Given the description of an element on the screen output the (x, y) to click on. 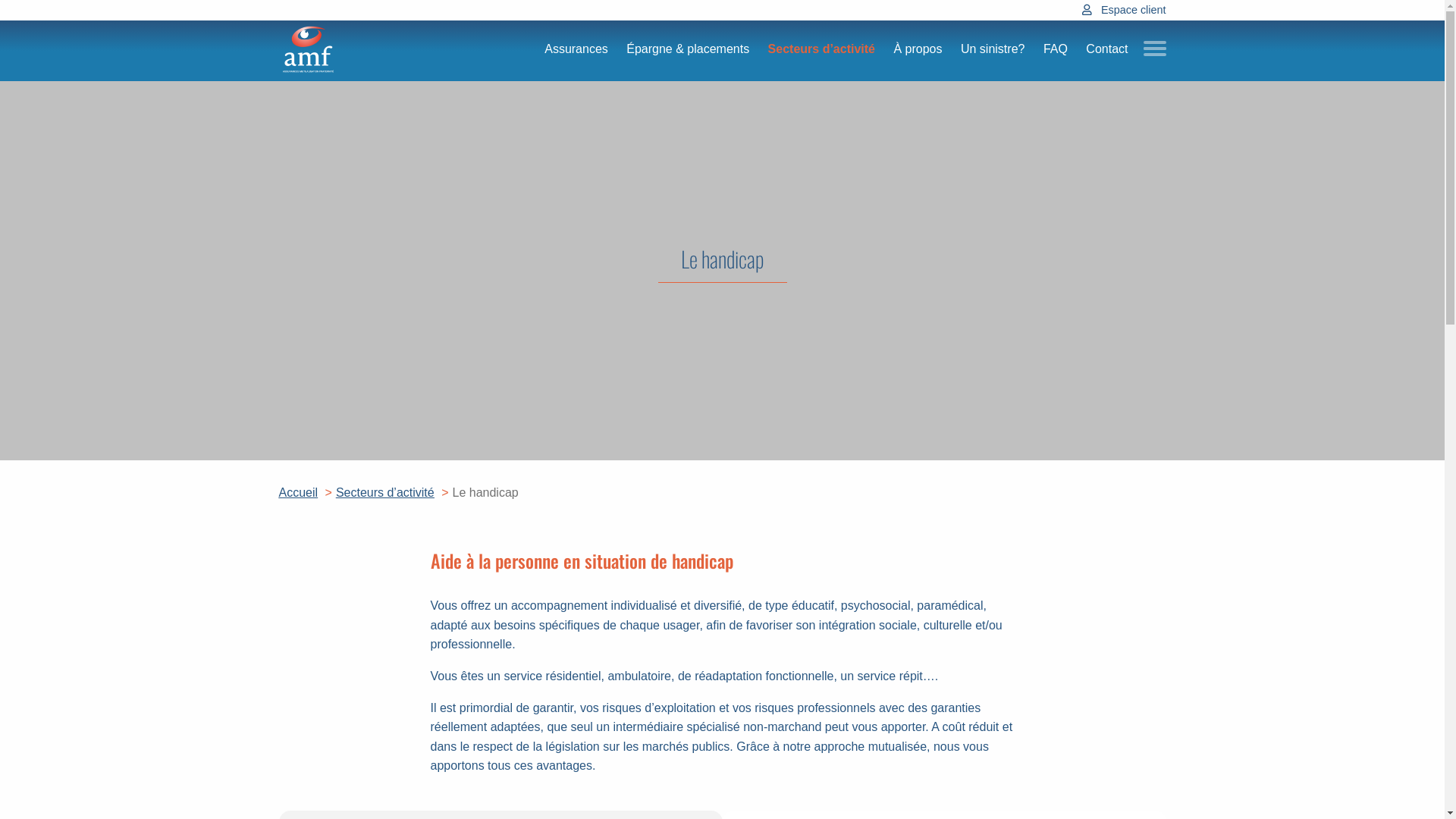
Accueil Element type: text (298, 492)
FAQ Element type: text (1055, 49)
Un sinistre? Element type: text (992, 49)
Assurances Element type: text (576, 49)
Contact Element type: text (1106, 49)
Espace client Element type: text (1133, 9)
